Given the description of an element on the screen output the (x, y) to click on. 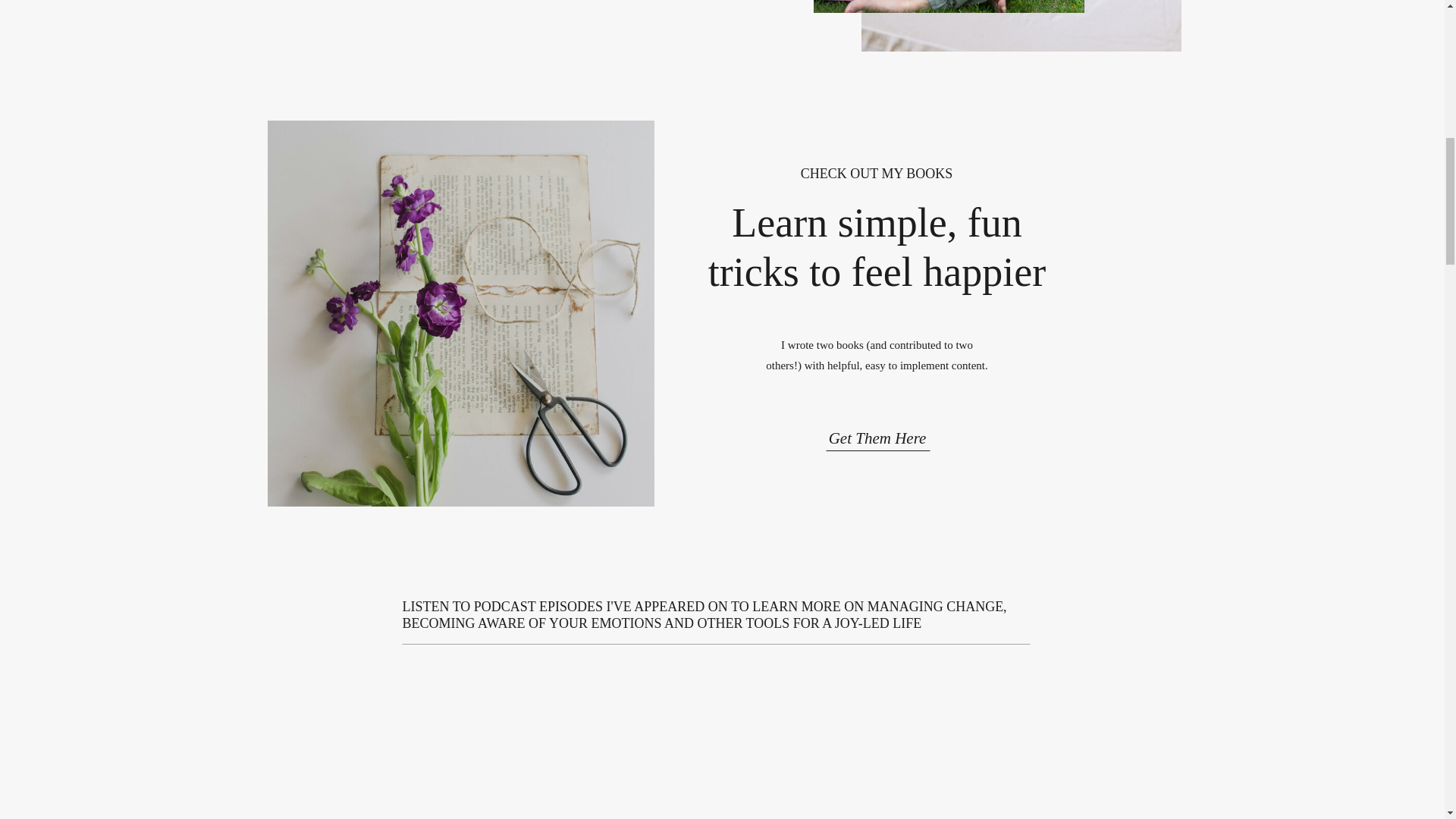
Get Them Here (877, 434)
